Given the description of an element on the screen output the (x, y) to click on. 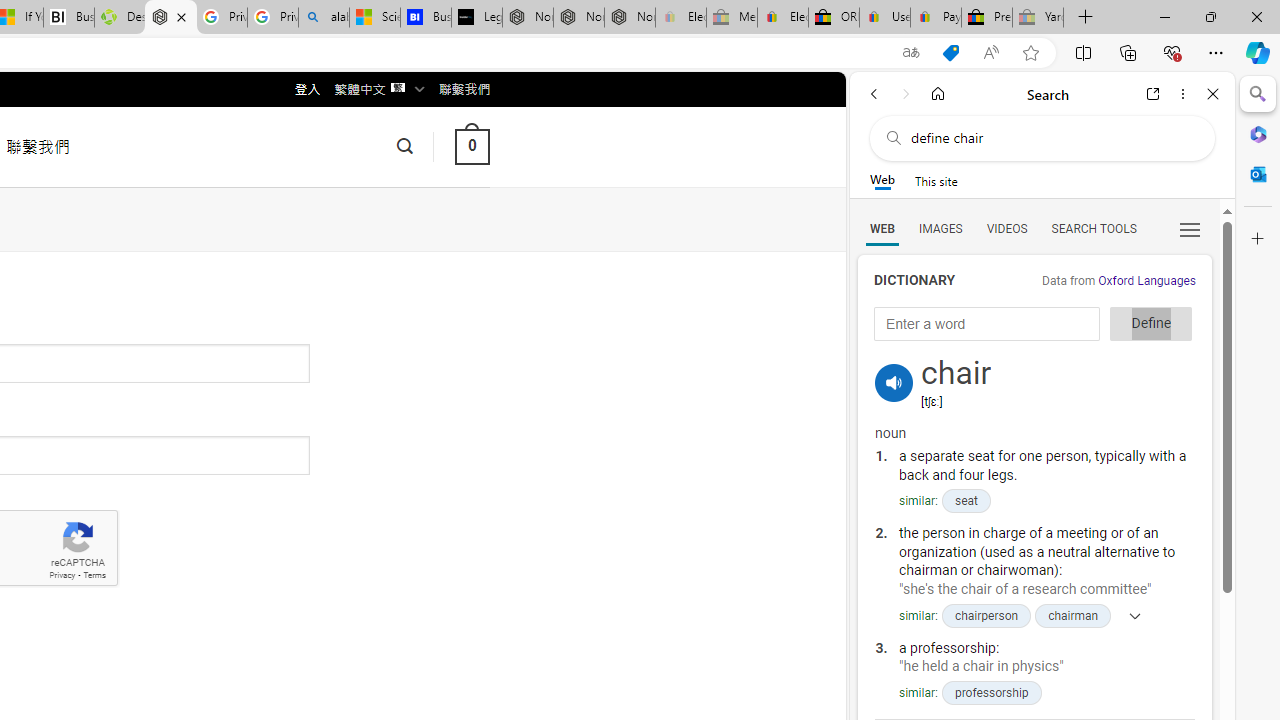
professorship (990, 691)
 0  (472, 146)
This site has coupons! Shopping in Microsoft Edge (950, 53)
SEARCH TOOLS (1093, 228)
Show translate options (910, 53)
Press Room - eBay Inc. (987, 17)
